Given the description of an element on the screen output the (x, y) to click on. 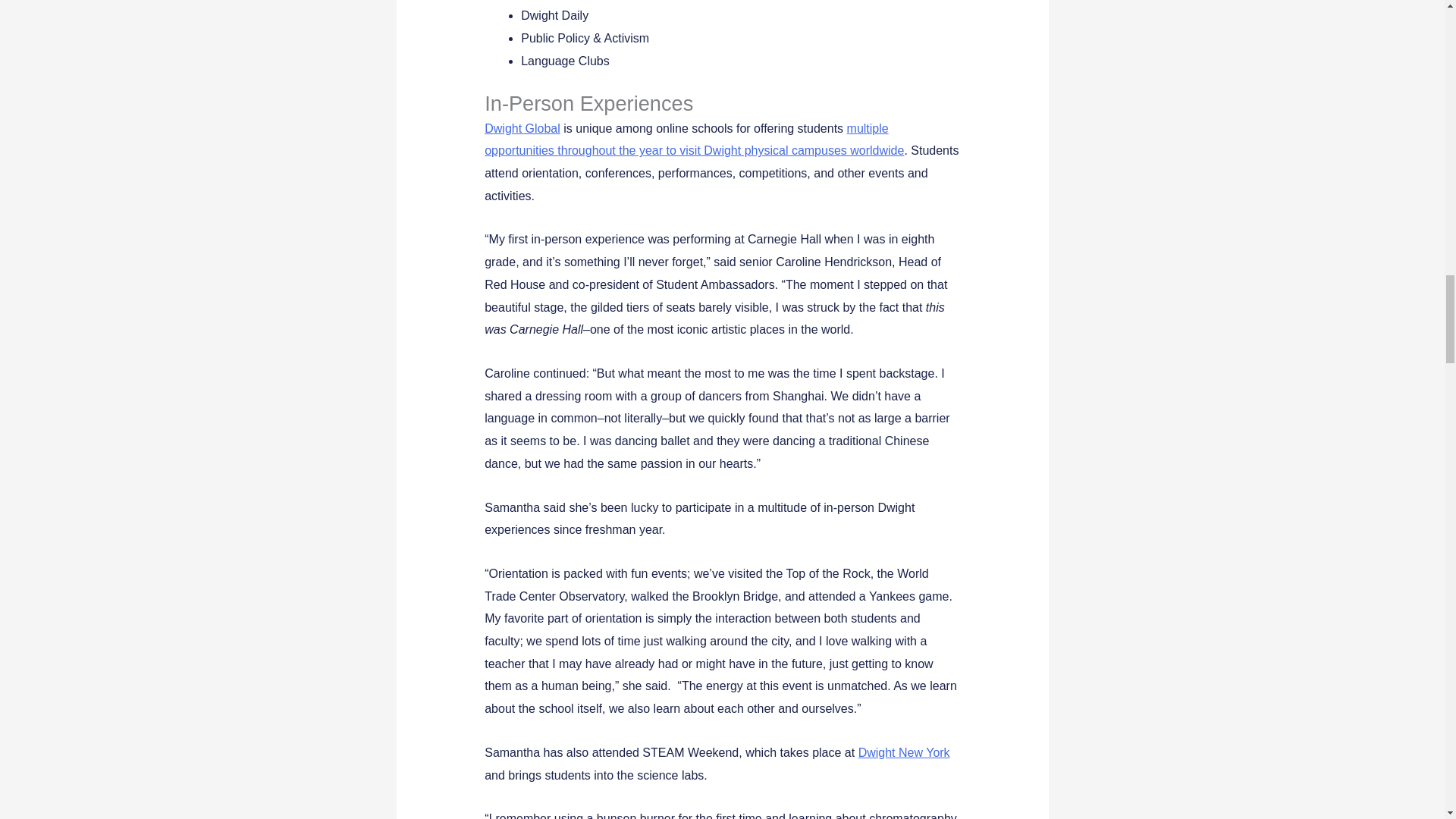
Dwight Global (522, 128)
Dwight New York (904, 752)
